Given the description of an element on the screen output the (x, y) to click on. 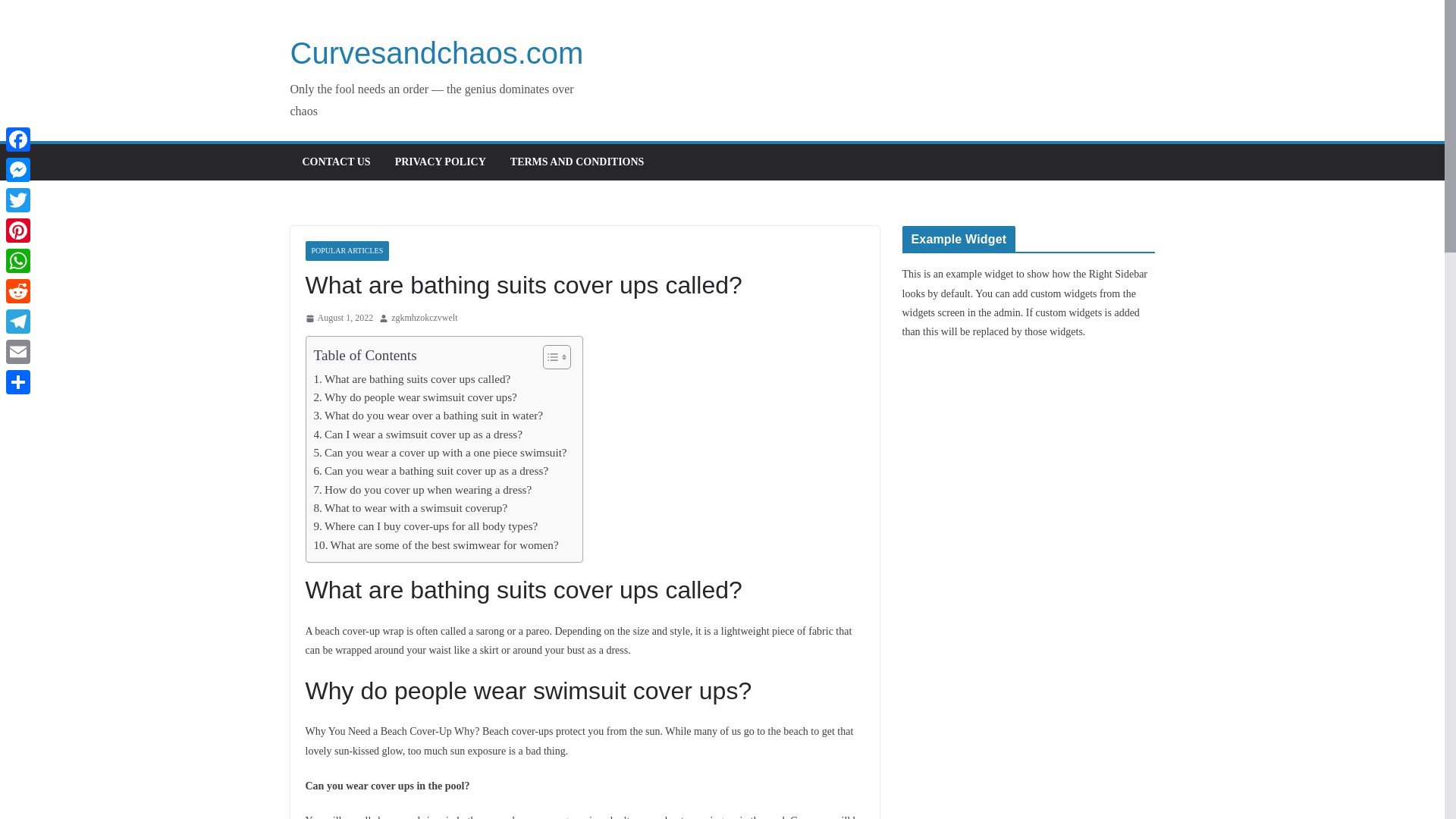
Can I wear a swimsuit cover up as a dress? (418, 434)
Can you wear a cover up with a one piece swimsuit? (440, 452)
Where can I buy cover-ups for all body types? (426, 525)
How do you cover up when wearing a dress? (423, 489)
Can you wear a cover up with a one piece swimsuit? (440, 452)
What do you wear over a bathing suit in water? (428, 415)
Can I wear a swimsuit cover up as a dress? (418, 434)
12:00 am (338, 318)
Where can I buy cover-ups for all body types? (426, 525)
Why do people wear swimsuit cover ups? (415, 397)
What are some of the best swimwear for women? (436, 545)
What are bathing suits cover ups called? (412, 379)
What to wear with a swimsuit coverup? (411, 507)
Why do people wear swimsuit cover ups? (415, 397)
What do you wear over a bathing suit in water? (428, 415)
